Given the description of an element on the screen output the (x, y) to click on. 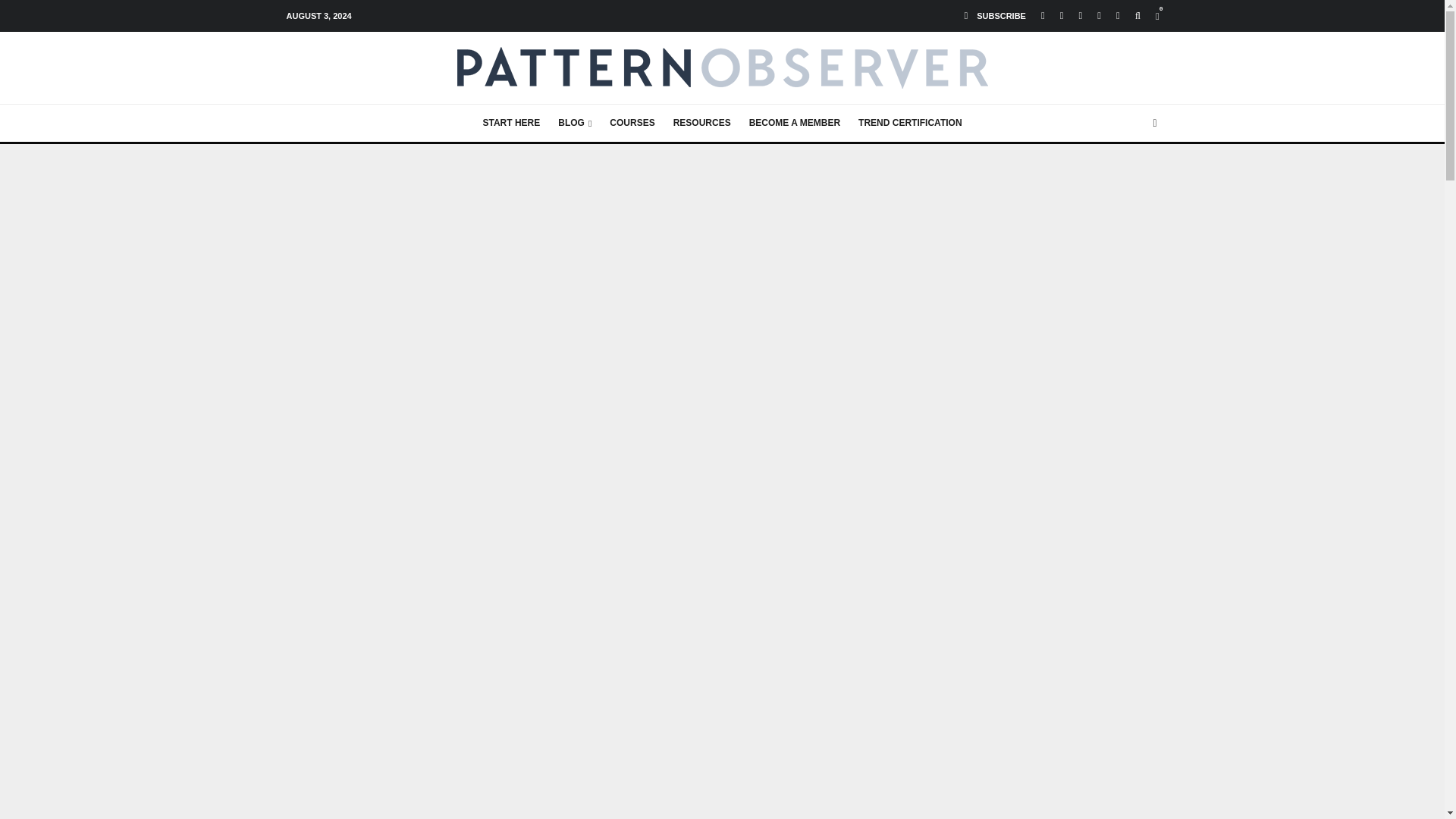
BECOME A MEMBER (793, 123)
RESOURCES (701, 123)
COURSES (631, 123)
TREND CERTIFICATION (909, 123)
BLOG (573, 123)
SUBSCRIBE (994, 15)
START HERE (510, 123)
